Given the description of an element on the screen output the (x, y) to click on. 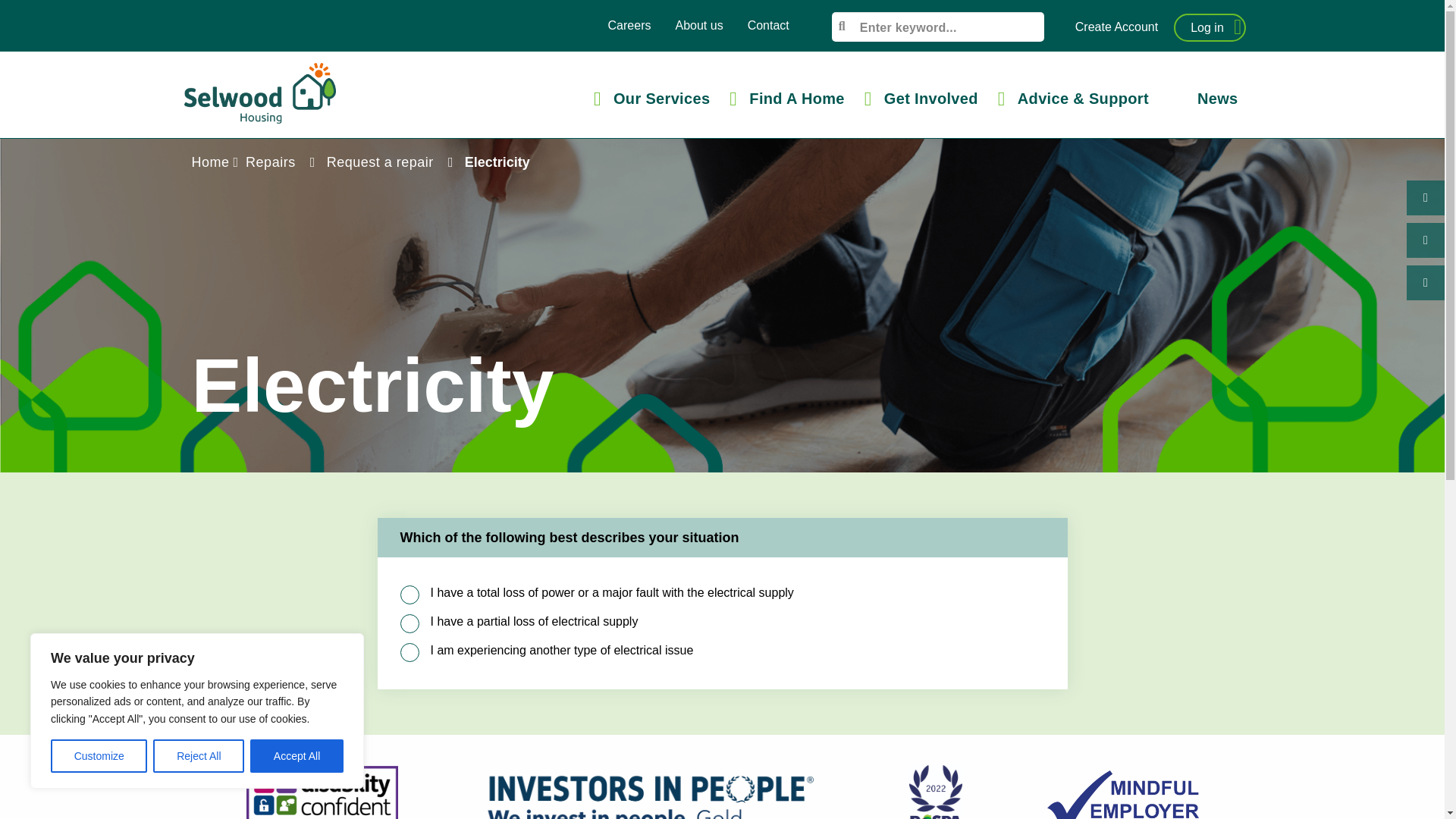
Bitmap-3 (321, 792)
Repairs (270, 161)
Reject All (198, 756)
Customize (98, 756)
Our Services (652, 98)
Careers (629, 24)
Request a repair (379, 161)
Create Account (1116, 26)
Mindful-Employer-logo-768x314-1 (1122, 794)
Log in (1208, 27)
GO (24, 16)
About us (698, 24)
Electricity (495, 161)
Accept All (296, 756)
invest-in-people-gold-R-1 (652, 793)
